Given the description of an element on the screen output the (x, y) to click on. 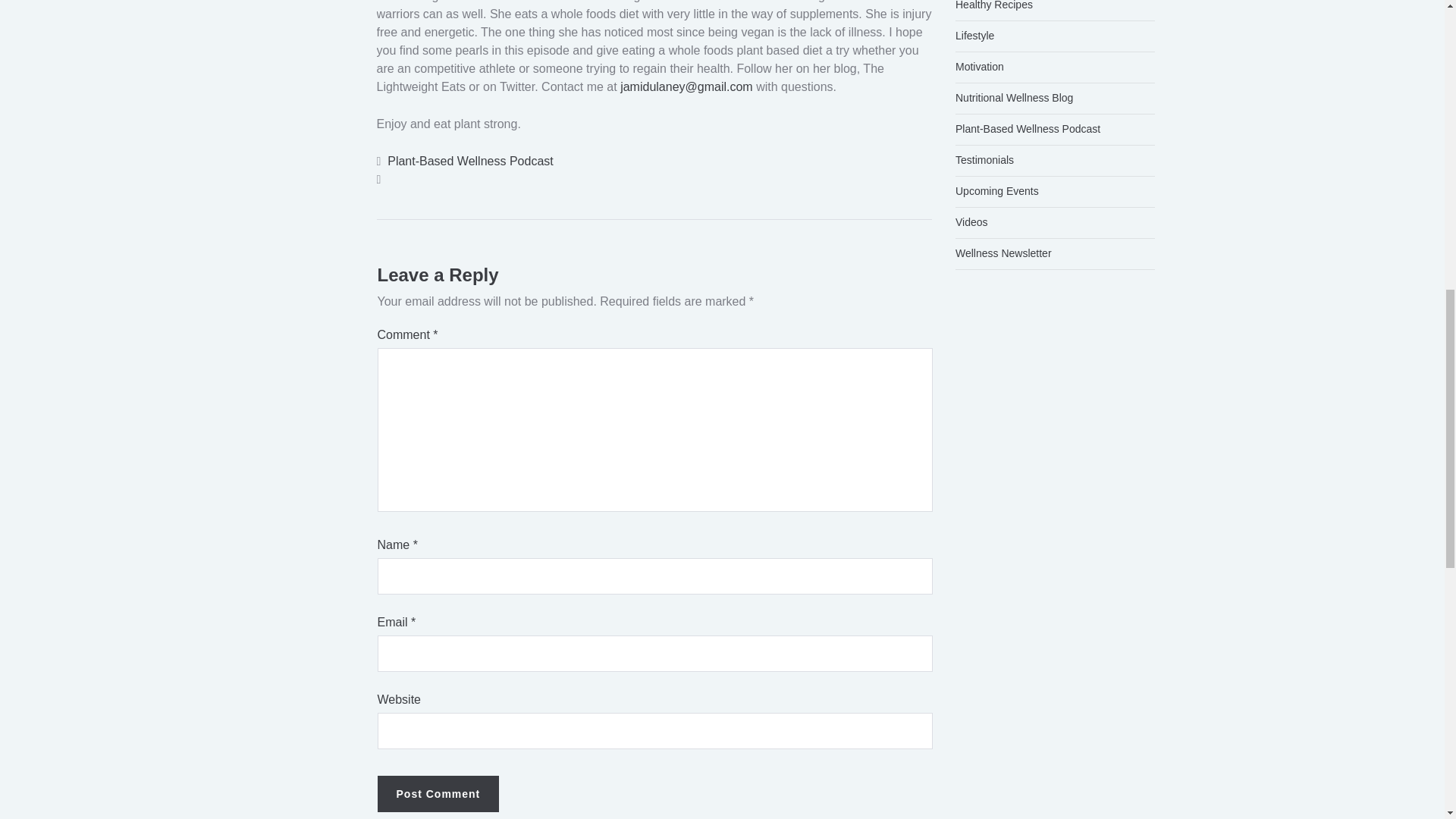
Plant-Based Wellness Podcast (470, 160)
Post Comment (438, 793)
Post Comment (438, 793)
